Given the description of an element on the screen output the (x, y) to click on. 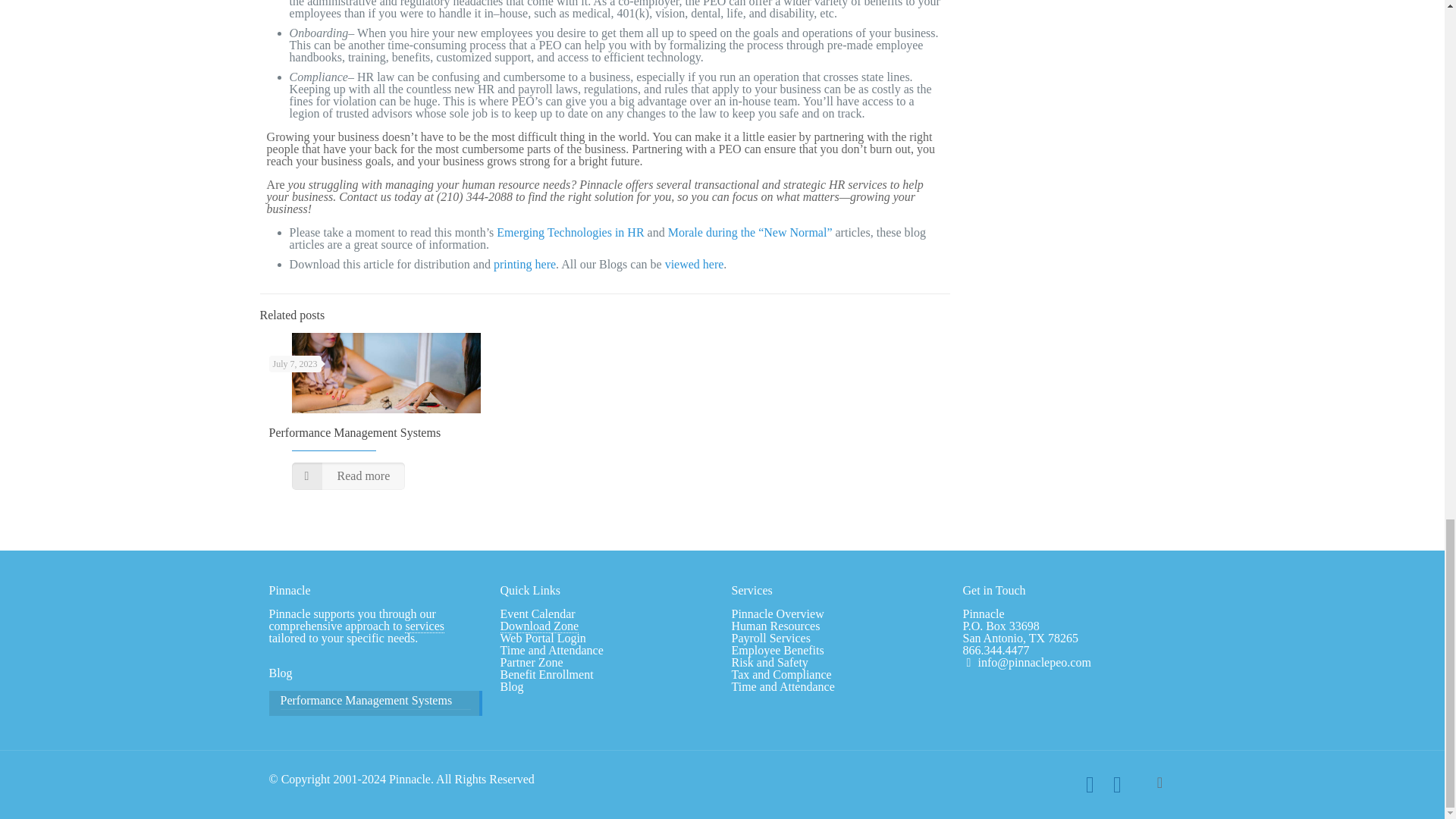
Instagram (1116, 788)
viewed here (694, 264)
printing here (524, 264)
Emerging Technologies in HR (569, 232)
Facebook (1089, 788)
